Given the description of an element on the screen output the (x, y) to click on. 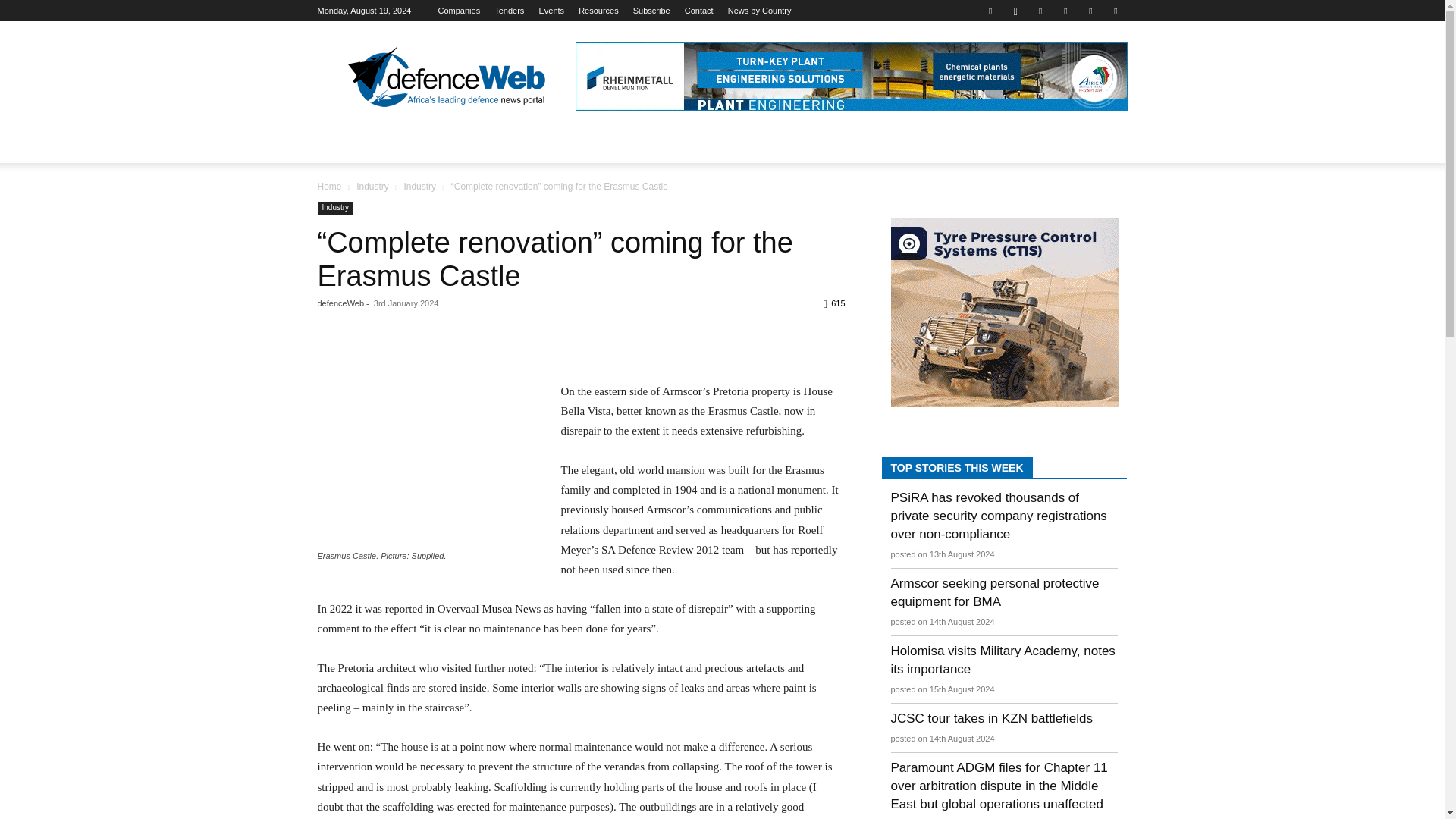
Youtube (1114, 10)
Facebook (989, 10)
Linkedin (1040, 10)
Instagram (1015, 10)
Mail (1065, 10)
Twitter (1090, 10)
